Given the description of an element on the screen output the (x, y) to click on. 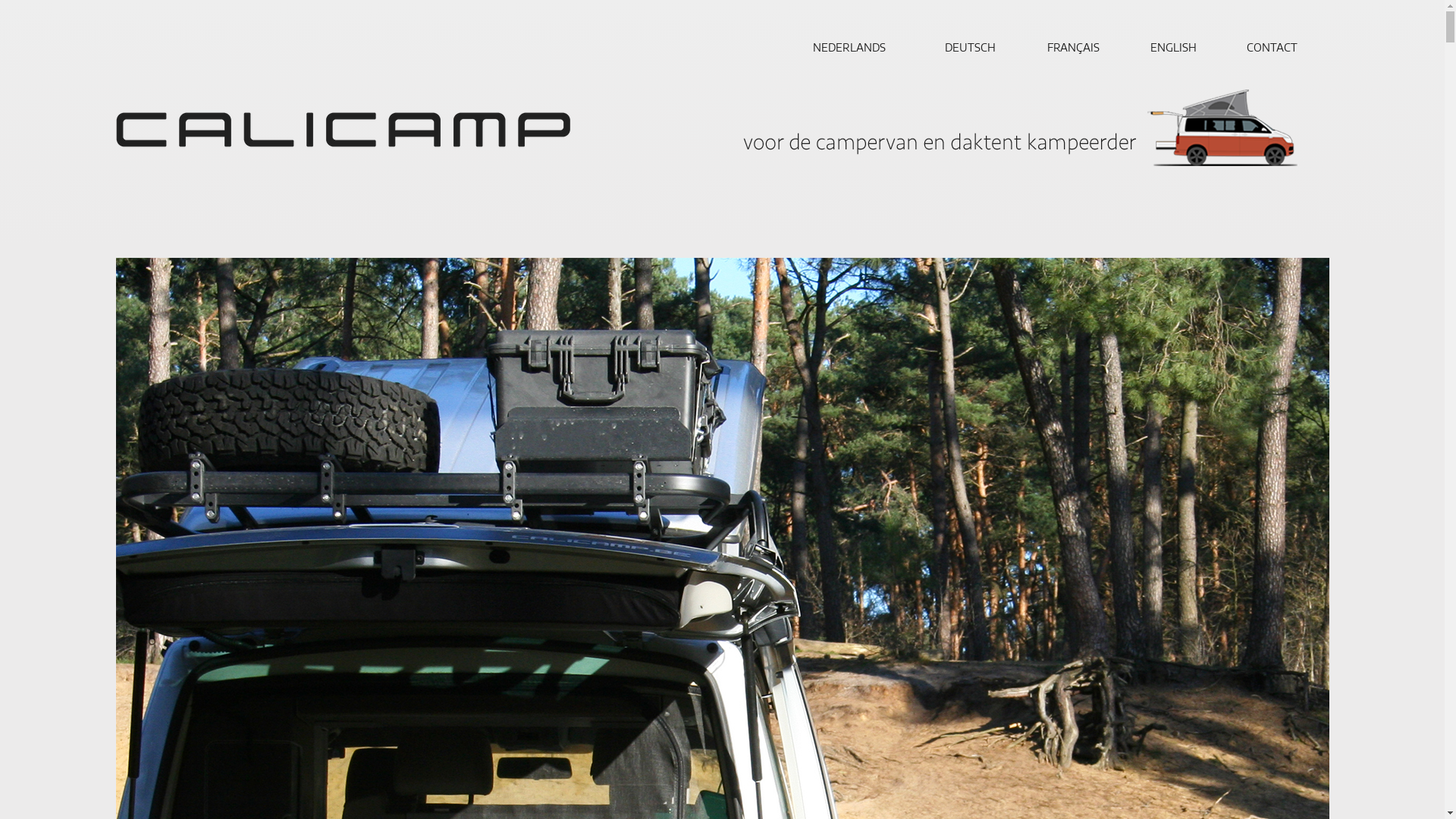
NEDERLANDS Element type: text (854, 46)
CONTACT Element type: text (1277, 46)
ENGLISH Element type: text (1178, 46)
Calicamp Element type: hover (342, 129)
DEUTSCH Element type: text (975, 46)
